Given the description of an element on the screen output the (x, y) to click on. 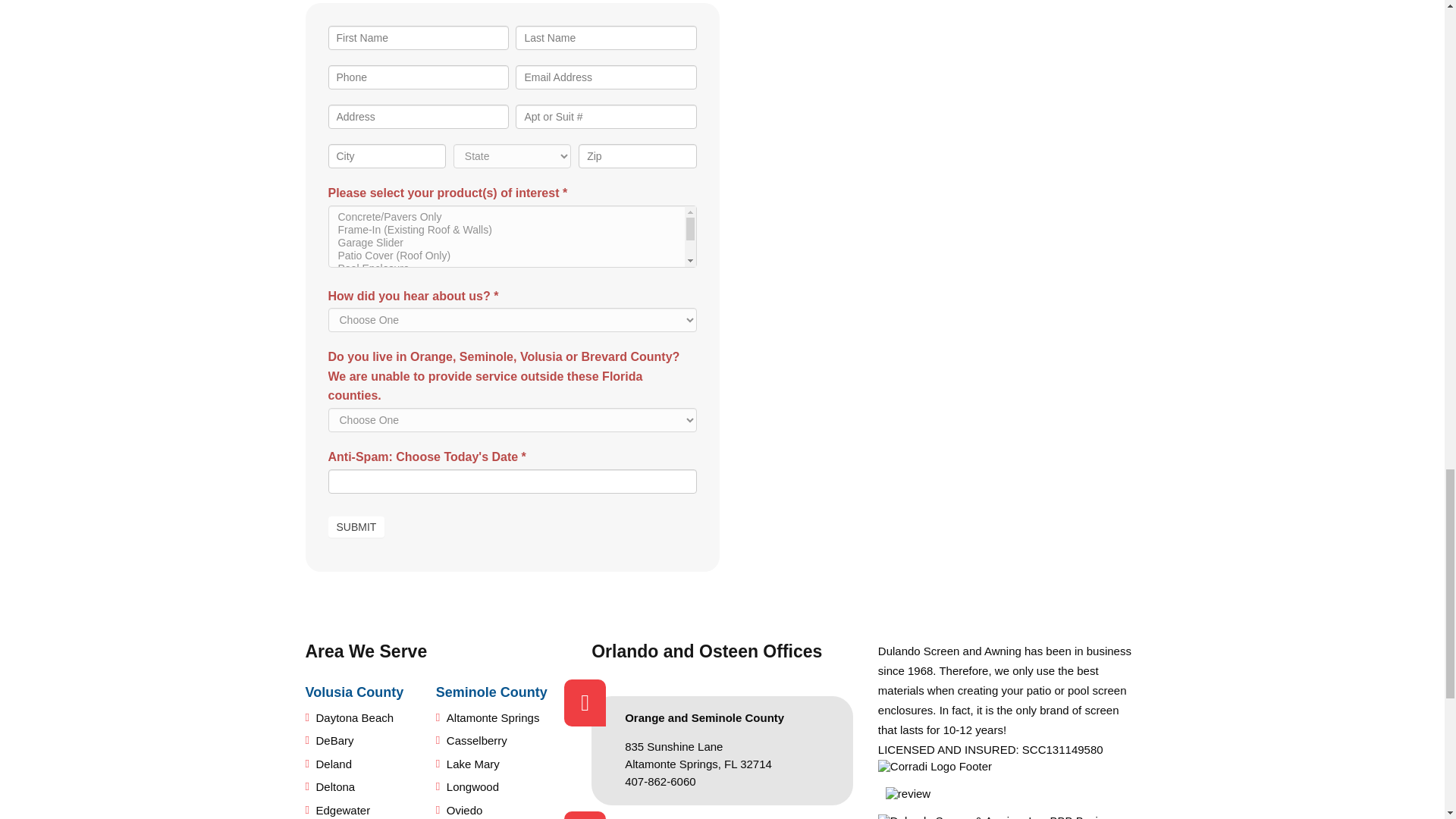
Submit (355, 526)
